Given the description of an element on the screen output the (x, y) to click on. 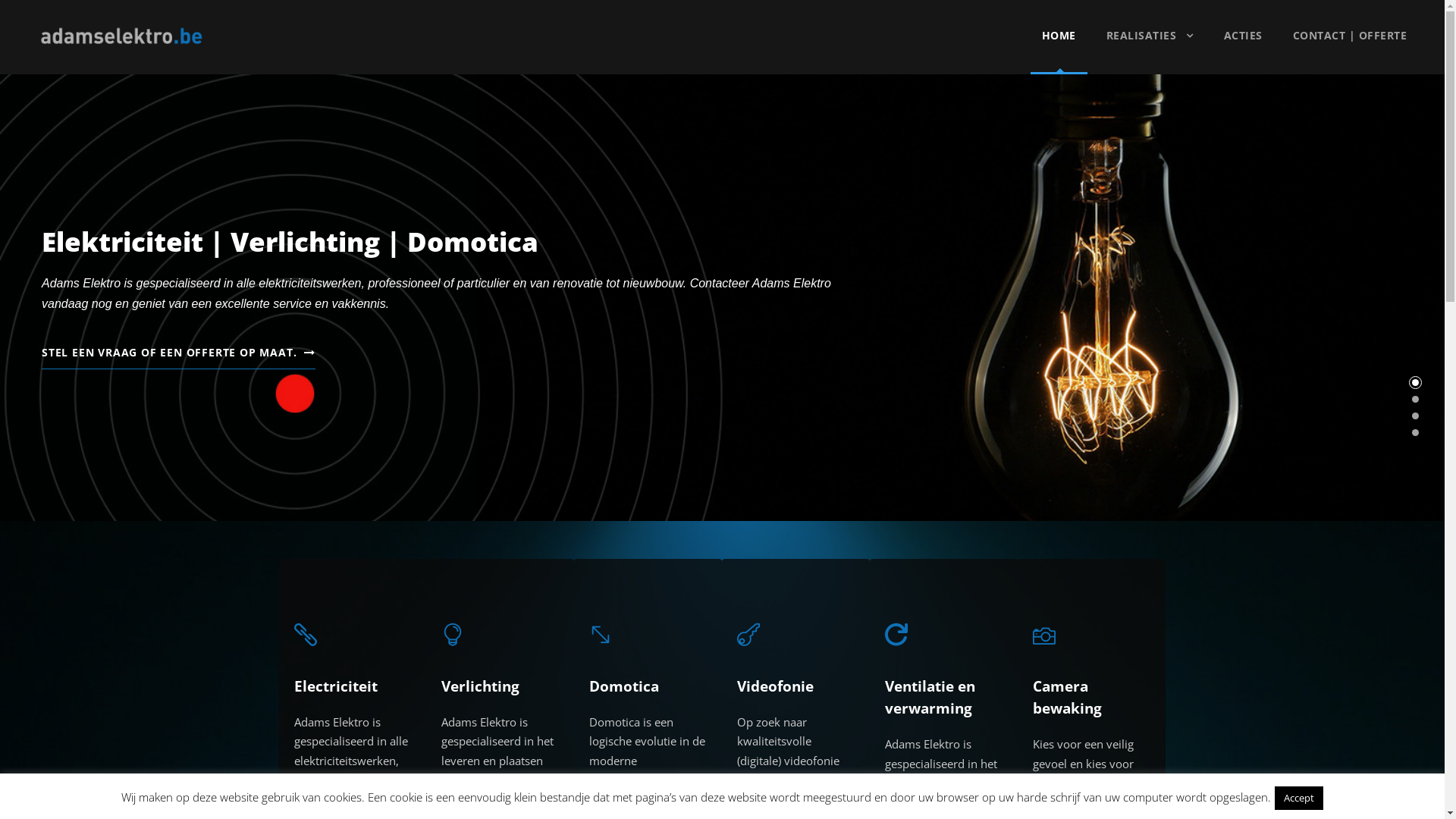
STEL EEN VRAAG OF EEN OFFERTE OP MAAT. Element type: text (178, 355)
Adamselektro_logo Element type: hover (120, 36)
REALISATIES Element type: text (1148, 50)
ACTIES Element type: text (1242, 49)
HOME Element type: text (1058, 49)
Accept Element type: text (1298, 797)
CONTACT | OFFERTE Element type: text (1349, 49)
